Given the description of an element on the screen output the (x, y) to click on. 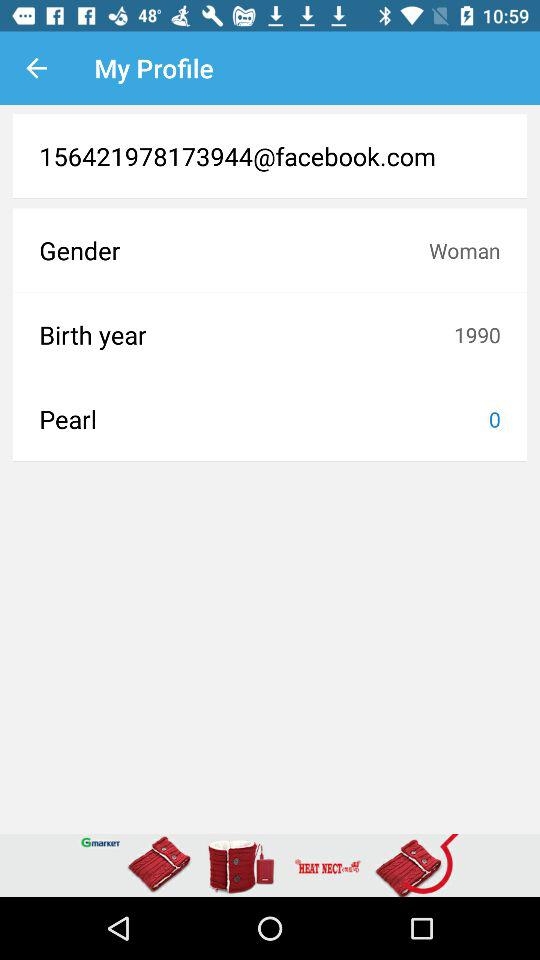
launch icon to the left of 1990 icon (246, 334)
